Given the description of an element on the screen output the (x, y) to click on. 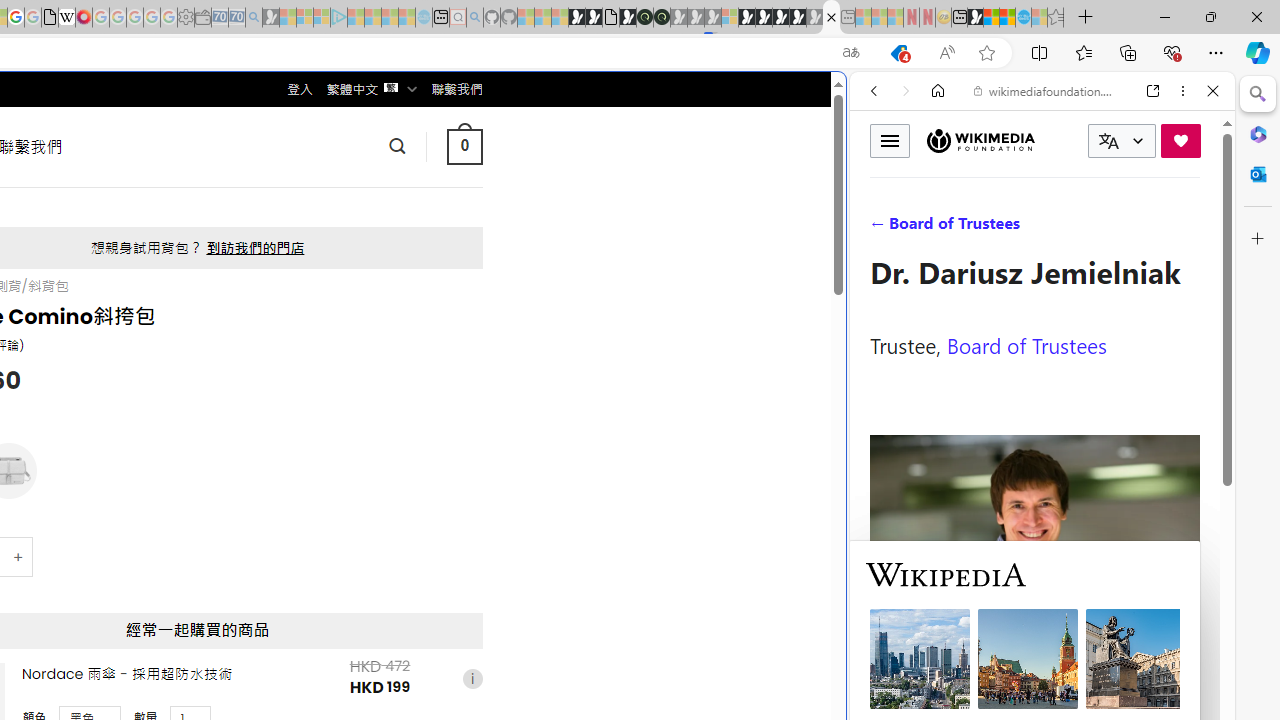
This site has coupons! Shopping in Microsoft Edge, 4 (898, 53)
Play Zoo Boom in your browser | Games from Microsoft Start (593, 17)
Donate now (1180, 140)
Sign in to your account - Sleeping (729, 17)
